Given the description of an element on the screen output the (x, y) to click on. 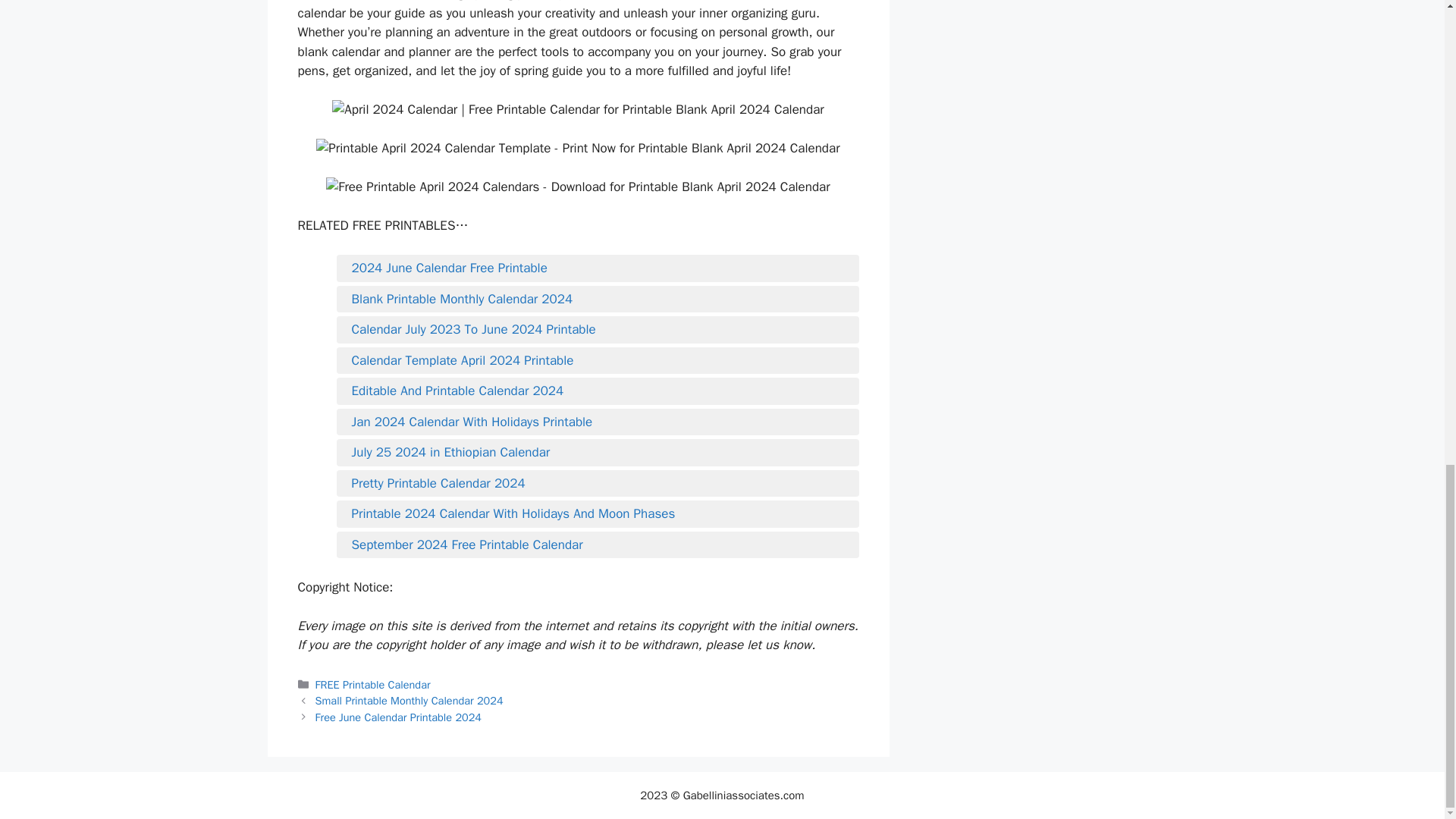
Pretty Printable Calendar 2024 (597, 483)
Editable And Printable Calendar 2024 (597, 391)
2024 June Calendar Free Printable (597, 268)
Printable 2024 Calendar With Holidays And Moon Phases (597, 513)
September 2024 Free Printable Calendar (597, 544)
Jan 2024 Calendar With Holidays Printable (597, 422)
Blank Printable Monthly Calendar 2024 (597, 299)
Calendar Template April 2024 Printable (597, 360)
Small Printable Monthly Calendar 2024 (409, 700)
July 25 2024 in Ethiopian Calendar (597, 452)
